Given the description of an element on the screen output the (x, y) to click on. 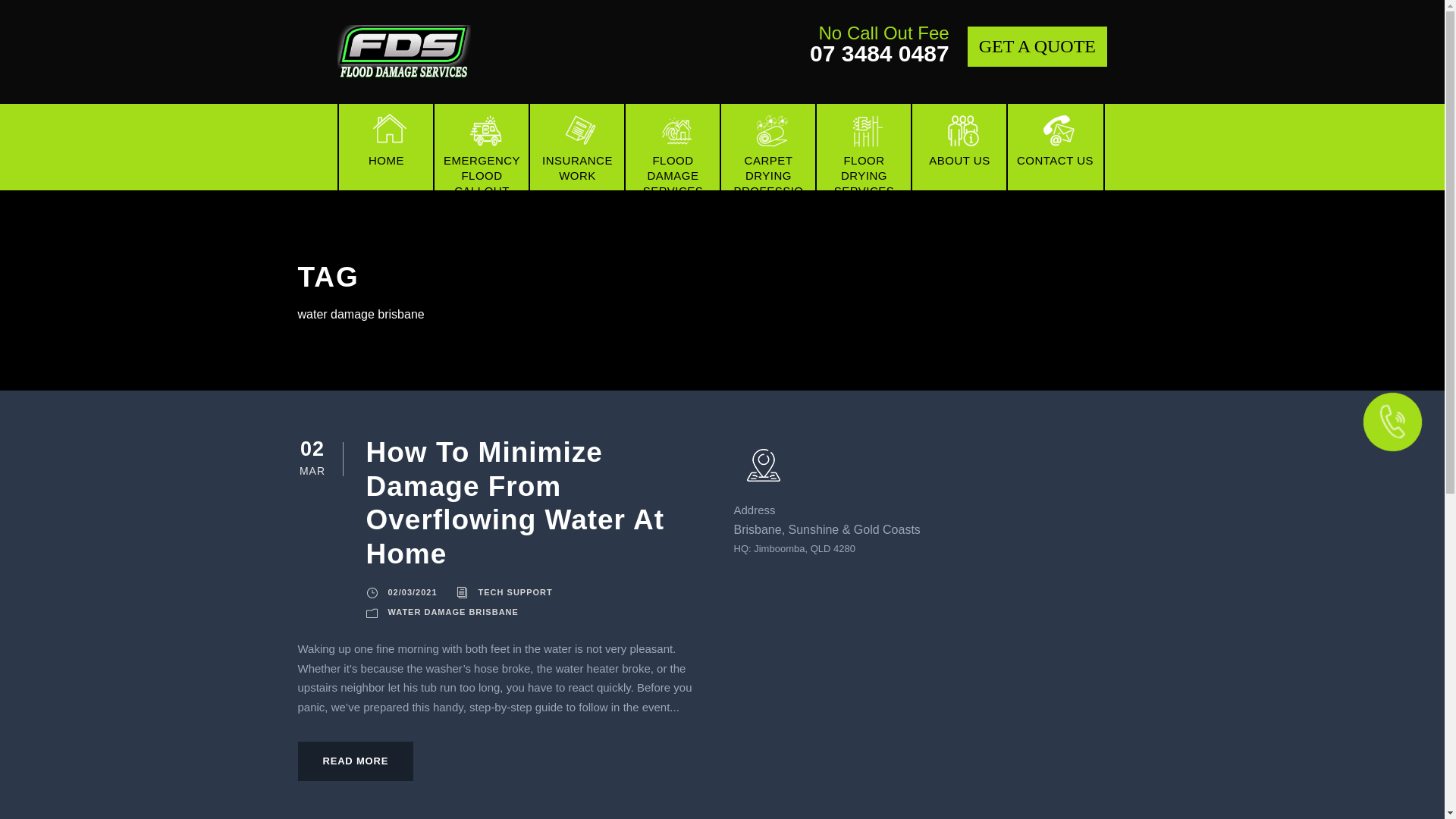
GET A QUOTE Element type: text (1037, 46)
WATER DAMAGE BRISBANE Element type: text (453, 610)
CARPET DRYING PROFESSIONALS Element type: text (767, 146)
FLOOD DAMAGE SERVICES Element type: text (672, 146)
ABOUT US Element type: text (959, 146)
EMERGENCY FLOOD CALLOUT Element type: text (481, 146)
imgpsh_fullsize_anim Element type: hover (403, 52)
TECH SUPPORT Element type: text (515, 591)
HOME Element type: text (385, 146)
INSURANCE WORK Element type: text (576, 146)
How To Minimize Damage From Overflowing Water At Home Element type: text (514, 502)
FLOOR DRYING SERVICES Element type: text (863, 146)
CONTACT US Element type: text (1054, 146)
02/03/2021 Element type: text (412, 591)
07 3484 0487 Element type: text (879, 52)
READ MORE Element type: text (355, 761)
